Given the description of an element on the screen output the (x, y) to click on. 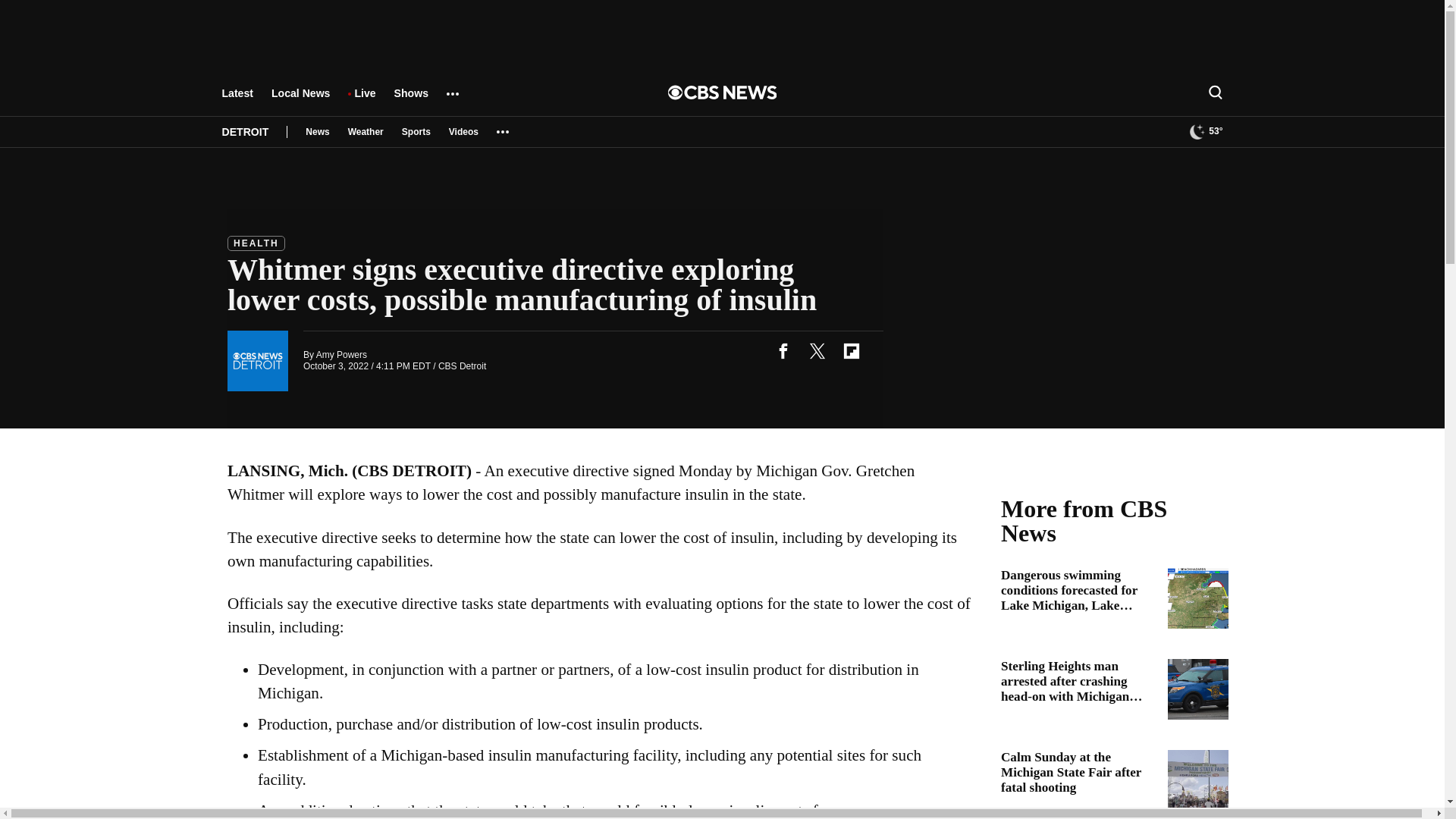
Local News (300, 100)
flipboard (850, 350)
facebook (782, 350)
twitter (816, 350)
Latest (236, 100)
